Given the description of an element on the screen output the (x, y) to click on. 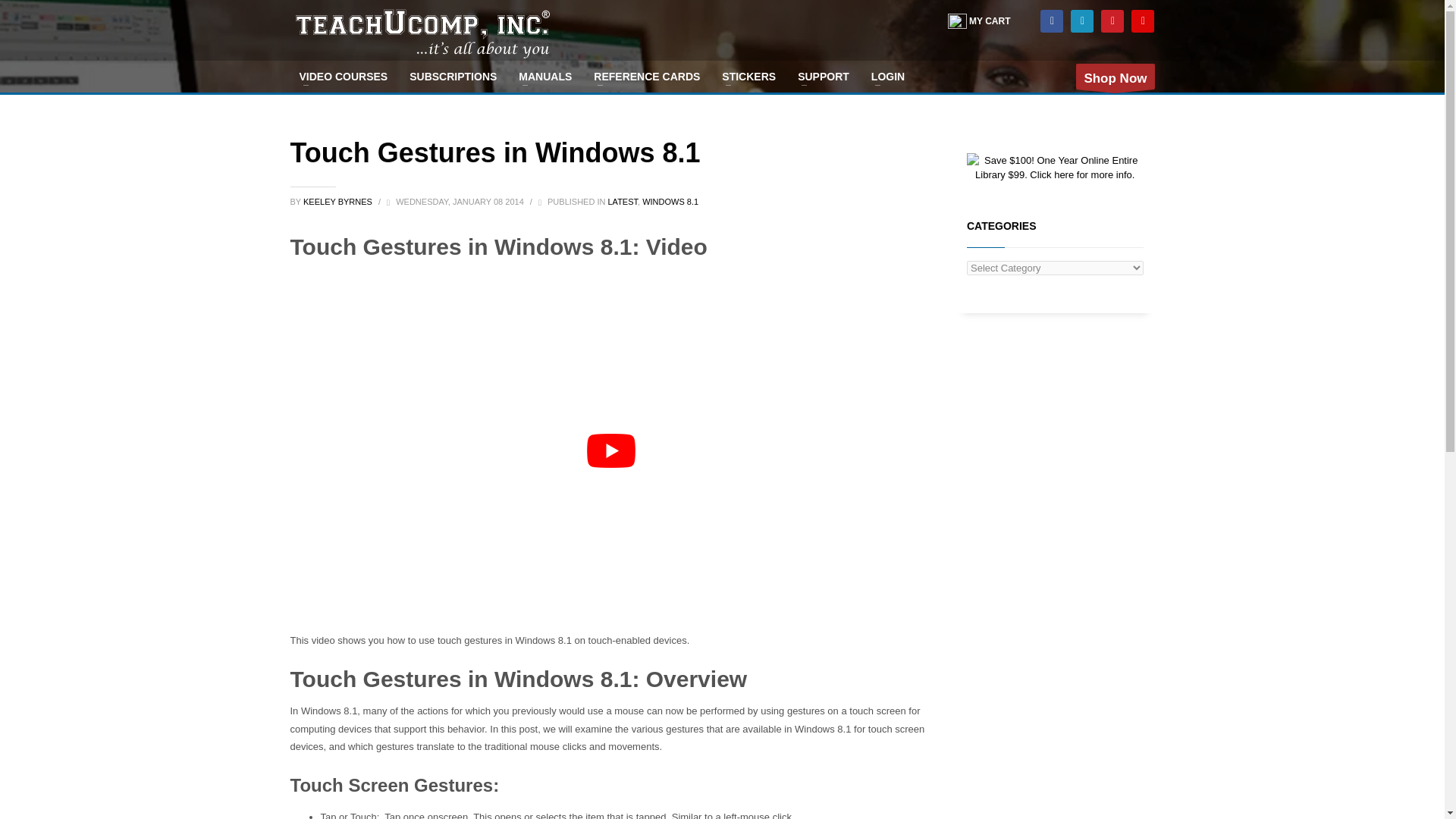
Facebook (1051, 20)
 MY CART (978, 20)
LinkedIn (1081, 20)
Computer Software Training and Continuing Education (421, 38)
YouTube (1142, 20)
VIDEO COURSES (342, 76)
Pinterest (1112, 20)
